Given the description of an element on the screen output the (x, y) to click on. 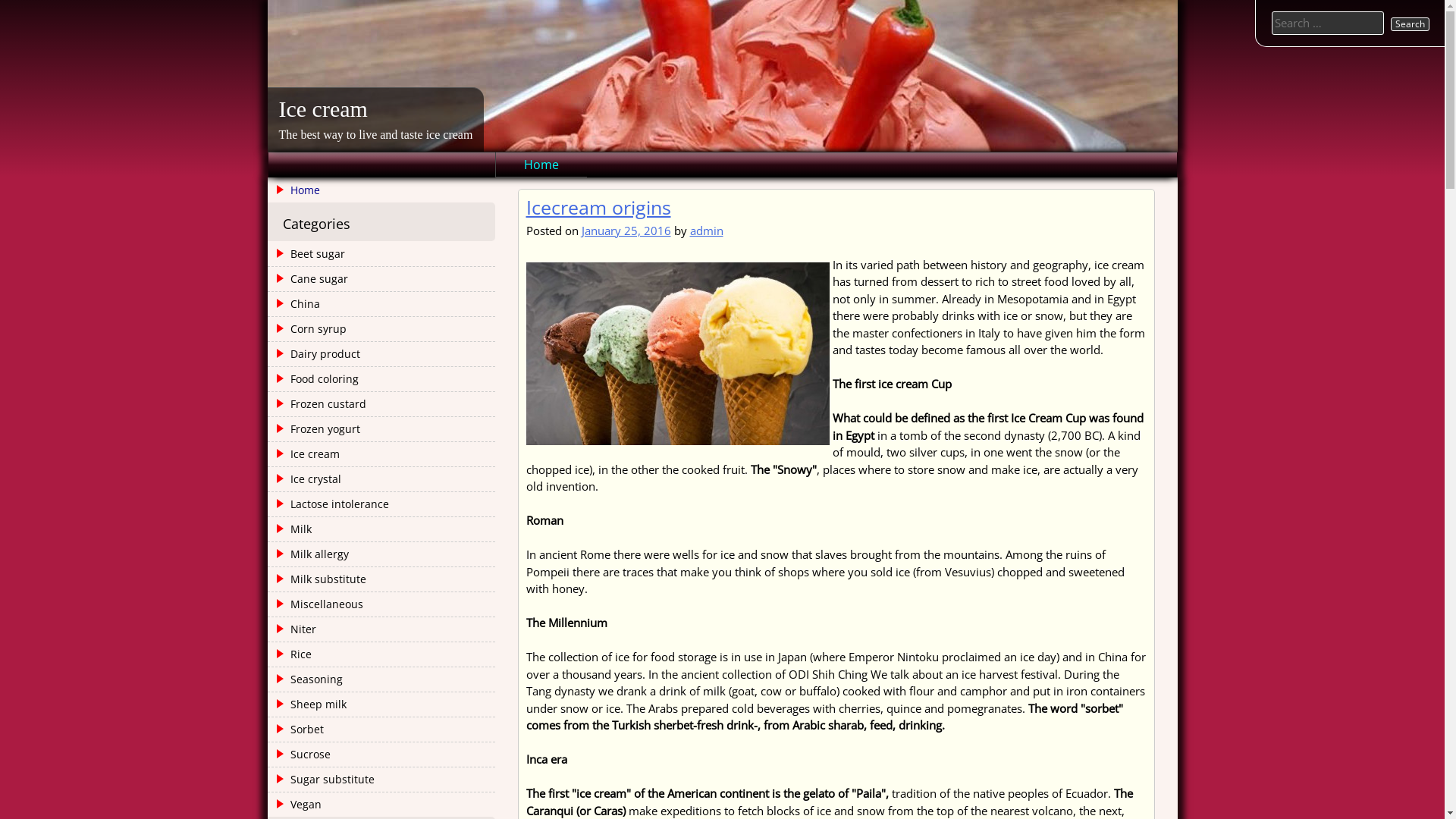
Vegan Element type: text (295, 804)
Home Element type: text (540, 164)
Ice crystal Element type: text (305, 479)
Sucrose Element type: text (299, 754)
Milk substitute Element type: text (317, 579)
Beet sugar Element type: text (307, 253)
January 25, 2016 Element type: text (625, 230)
Food coloring Element type: text (313, 379)
Sorbet Element type: text (296, 729)
Frozen custard Element type: text (317, 404)
Niter Element type: text (292, 629)
admin Element type: text (706, 230)
Icecream origins Element type: text (598, 206)
Ice cream Element type: text (323, 108)
Miscellaneous Element type: text (316, 604)
Dairy product Element type: text (314, 354)
Milk allergy Element type: text (308, 554)
Home Element type: text (380, 190)
Milk Element type: text (290, 529)
China Element type: text (294, 303)
Seasoning Element type: text (305, 679)
Skip to content Element type: text (0, 0)
Sheep milk Element type: text (307, 704)
Lactose intolerance Element type: text (329, 504)
Sugar substitute Element type: text (321, 779)
Search Element type: text (1409, 24)
Cane sugar Element type: text (308, 278)
Ice cream Element type: text (304, 454)
Frozen yogurt Element type: text (314, 429)
Rice Element type: text (290, 654)
Corn syrup Element type: text (307, 328)
